Given the description of an element on the screen output the (x, y) to click on. 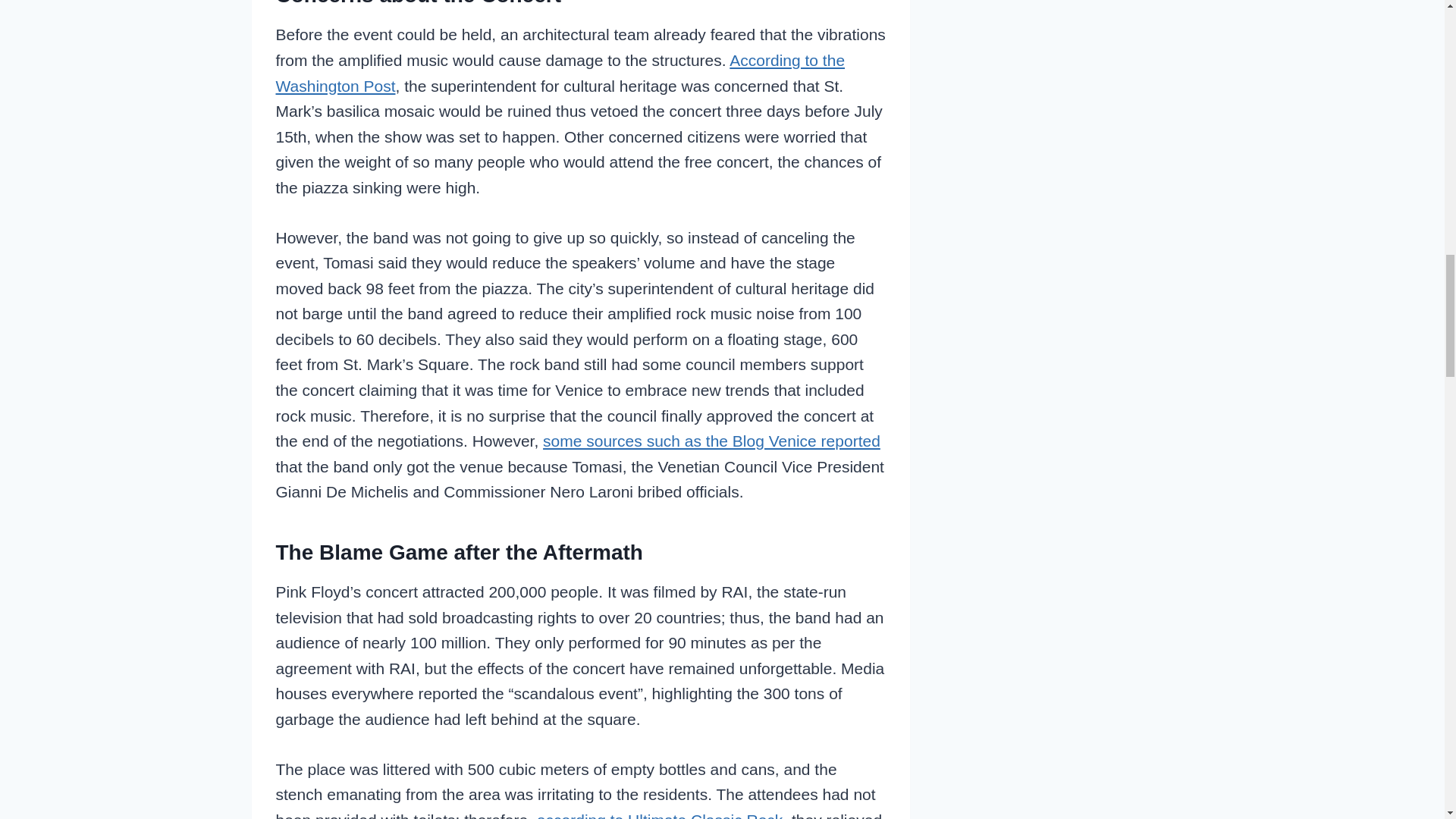
according to Ultimate Classic Rock (660, 815)
some sources such as the Blog Venice reported (711, 440)
According to the Washington Post (560, 73)
